Given the description of an element on the screen output the (x, y) to click on. 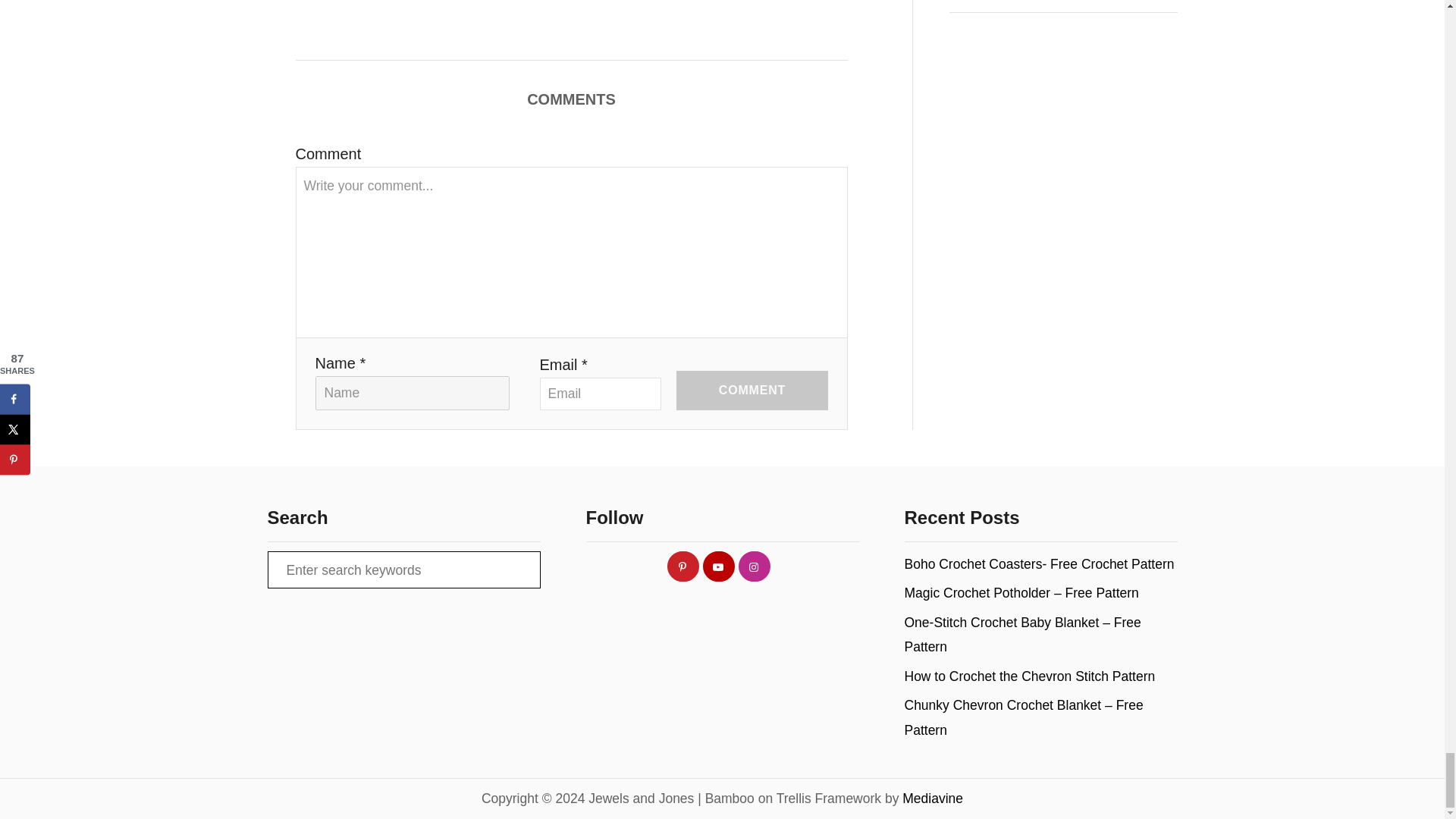
Follow on Pinterest (683, 566)
Follow on Instagram (754, 566)
Search for: (403, 569)
Follow on YouTube (719, 566)
